Given the description of an element on the screen output the (x, y) to click on. 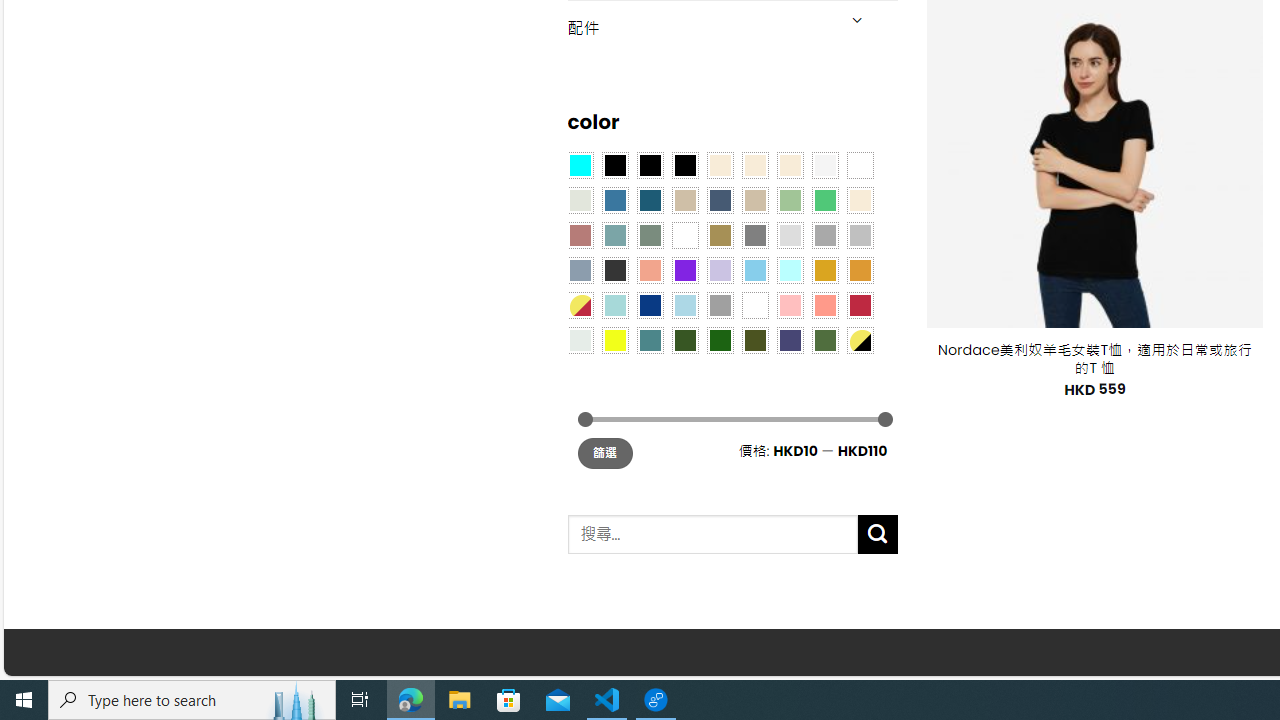
Cream (789, 164)
